Given the description of an element on the screen output the (x, y) to click on. 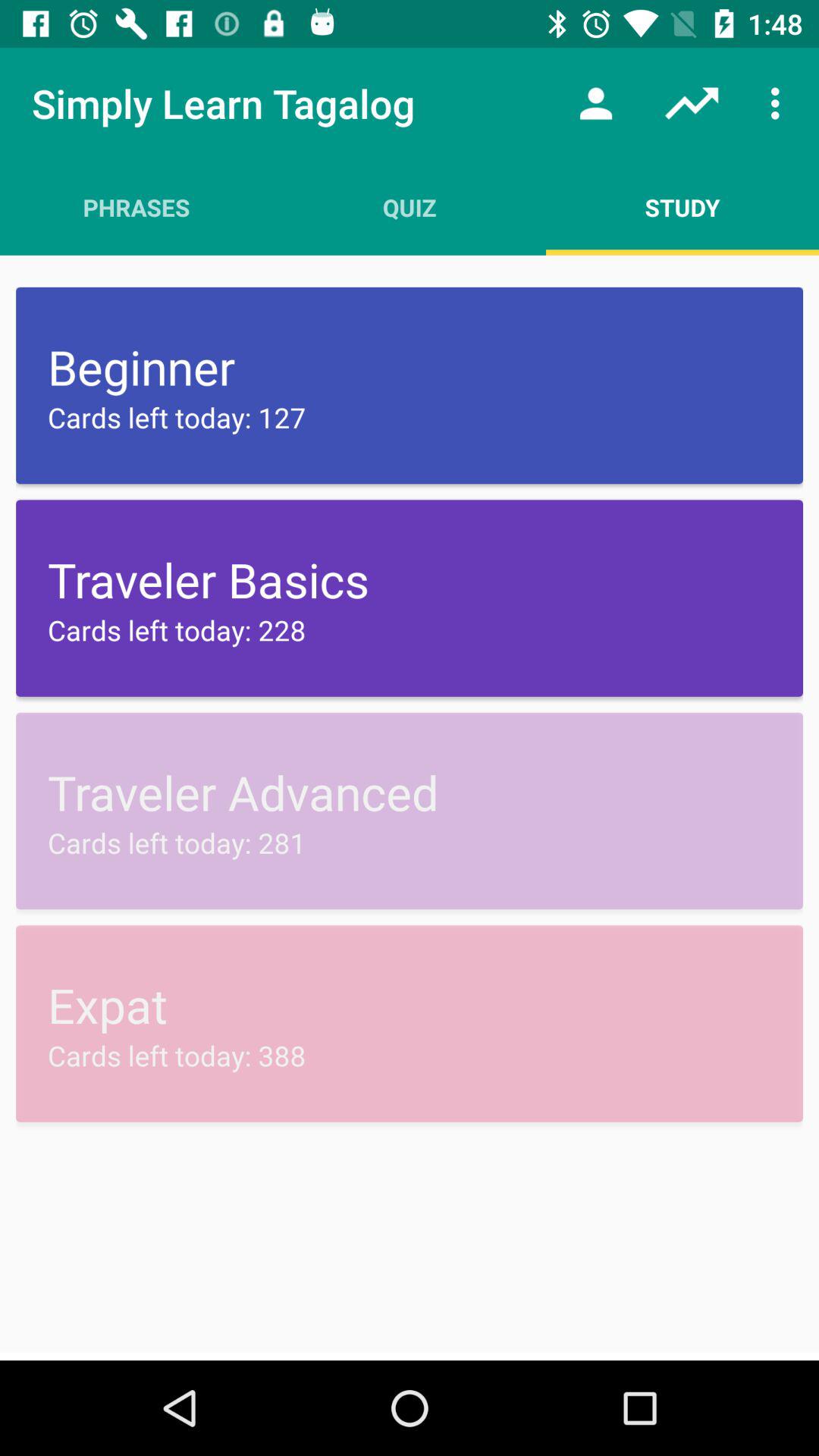
launch icon above beginner (136, 207)
